Given the description of an element on the screen output the (x, y) to click on. 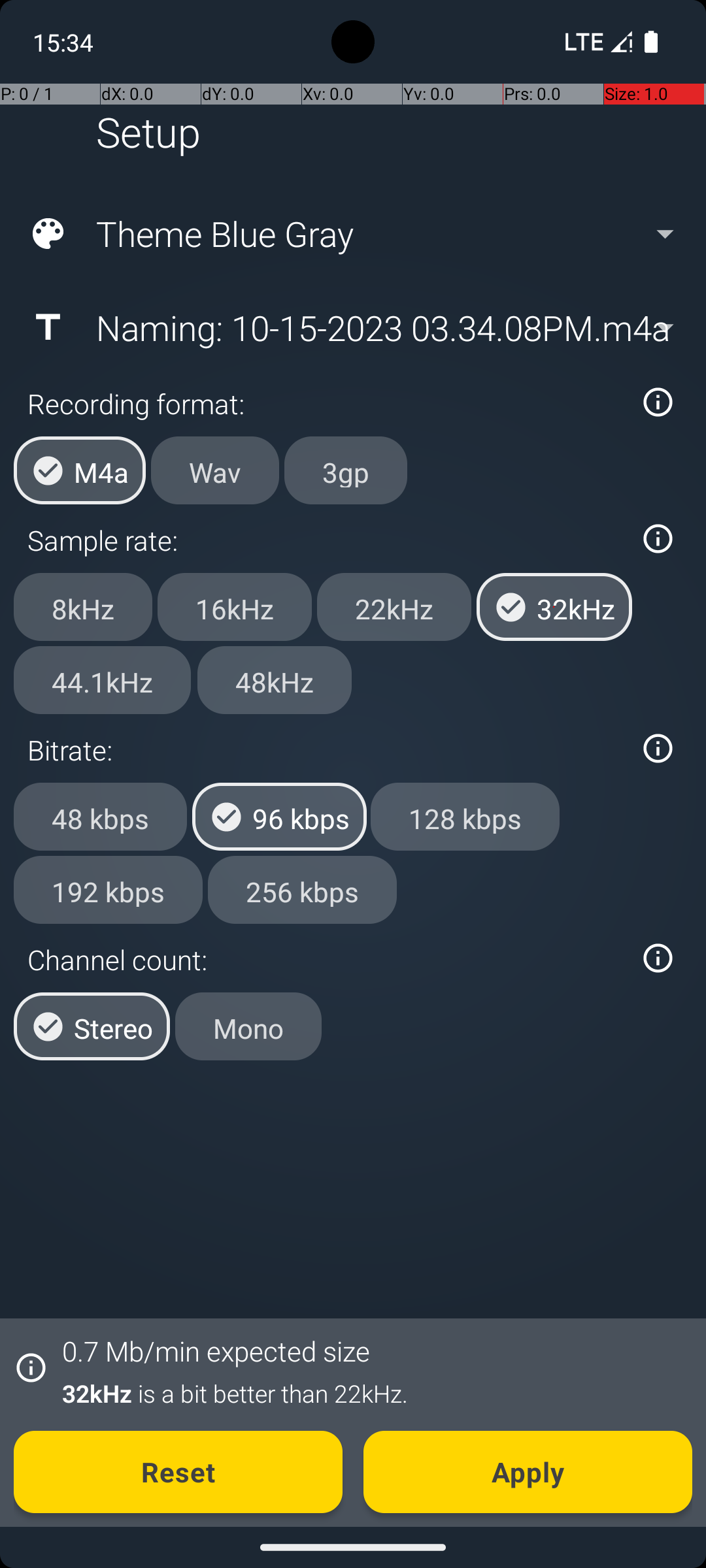
0.7 Mb/min expected size Element type: android.widget.TextView (215, 1350)
32kHz is a bit better than 22kHz. Element type: android.widget.TextView (370, 1392)
Naming: 10-15-2023 03.34.08PM.m4a Element type: android.widget.TextView (352, 327)
